Given the description of an element on the screen output the (x, y) to click on. 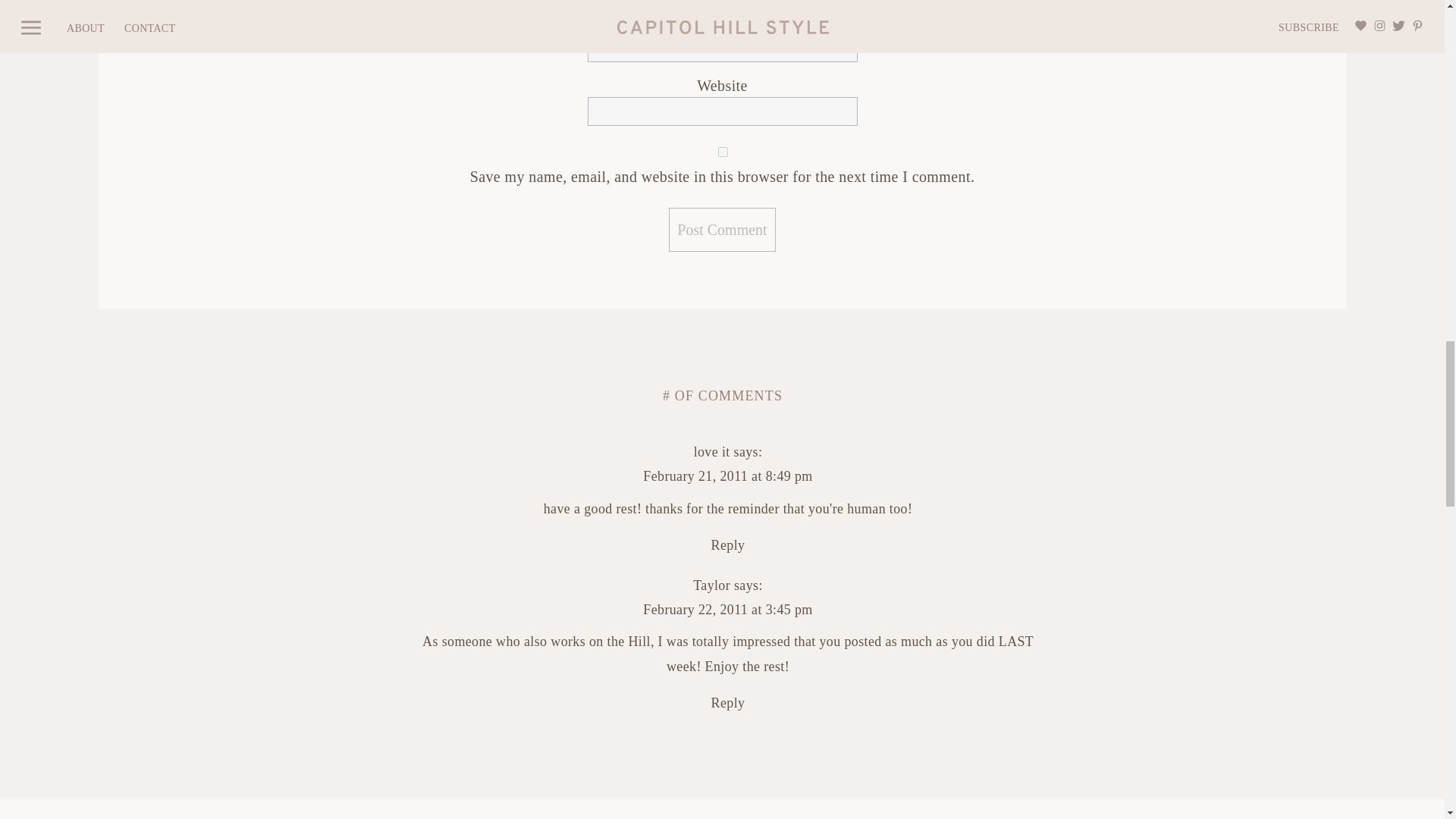
Post Comment (721, 229)
Reply (728, 544)
February 22, 2011 at 3:45 pm (727, 609)
Post Comment (721, 229)
Reply (728, 702)
yes (721, 152)
February 21, 2011 at 8:49 pm (727, 476)
